Given the description of an element on the screen output the (x, y) to click on. 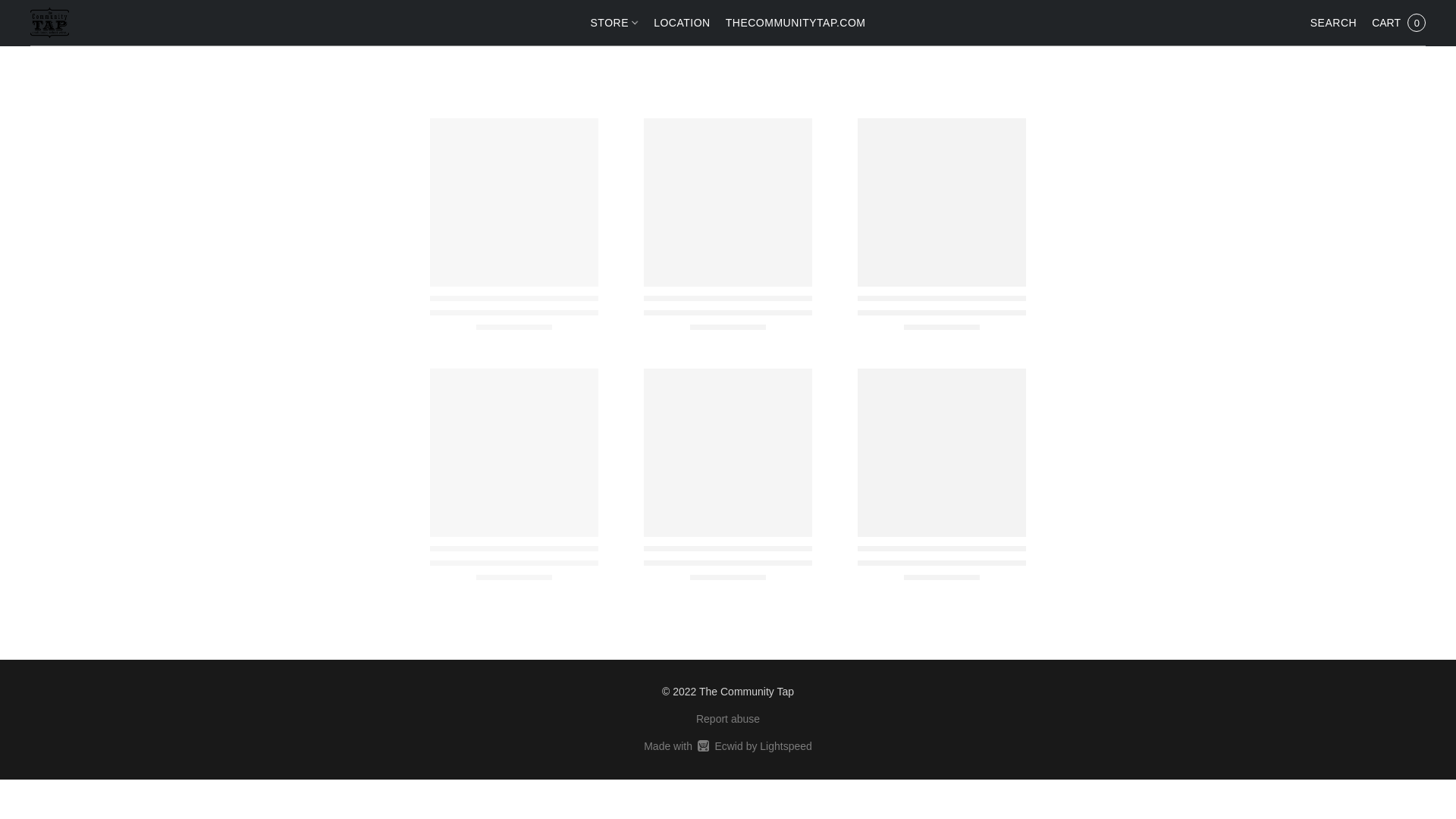
THECOMMUNITYTAP.COM (791, 22)
LOCATION (681, 22)
CART (727, 746)
Report abuse (1398, 22)
Go to your shopping cart (727, 719)
STORE (1398, 22)
SEARCH (617, 22)
Search the website (1333, 22)
